Given the description of an element on the screen output the (x, y) to click on. 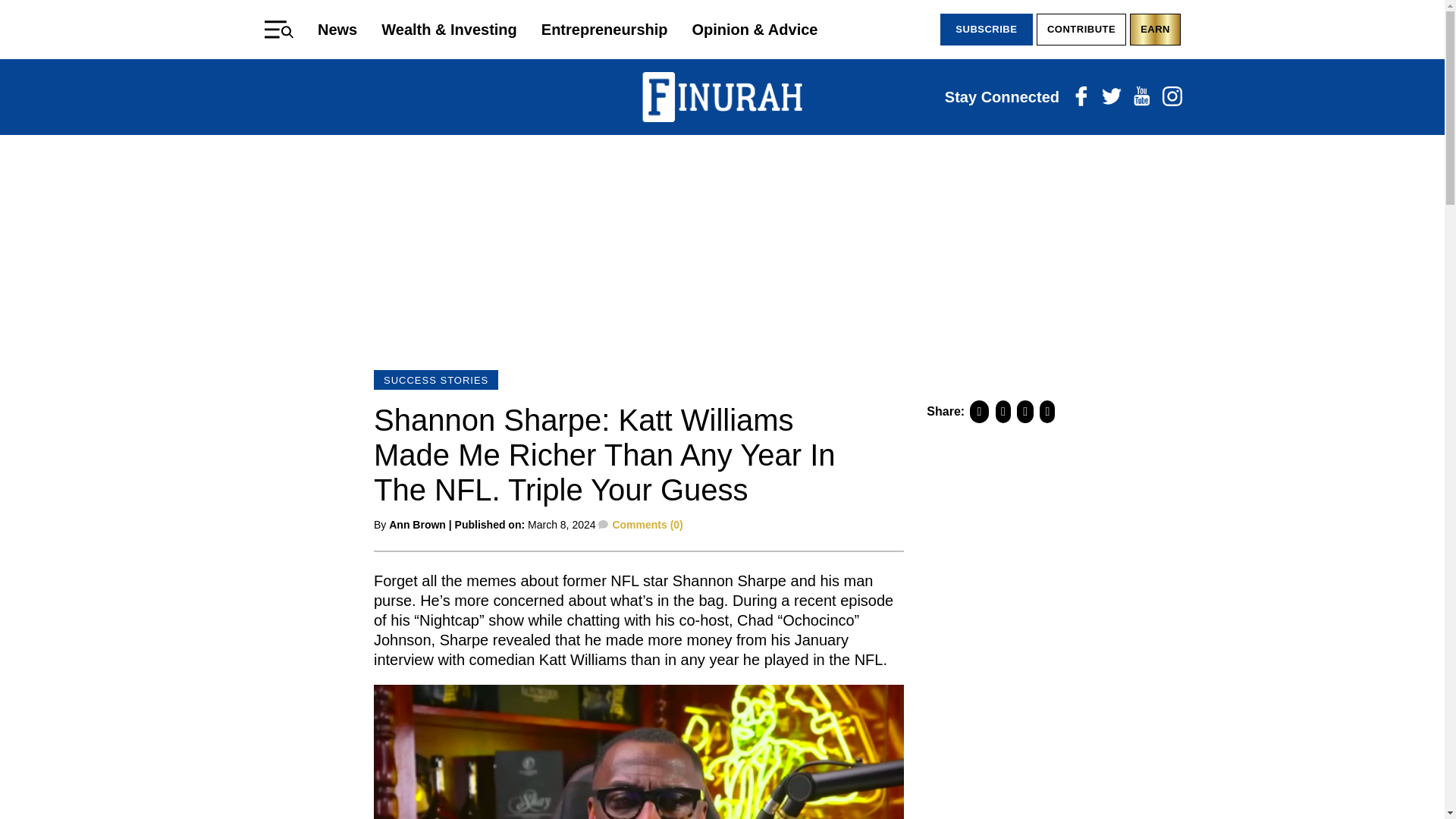
CONTRIBUTE (1080, 29)
SUCCESS STORIES (435, 379)
Ann Brown (416, 524)
News (336, 29)
EARN (1154, 29)
Entrepreneurship (604, 29)
Finurah (722, 97)
SUBSCRIBE (986, 29)
